Given the description of an element on the screen output the (x, y) to click on. 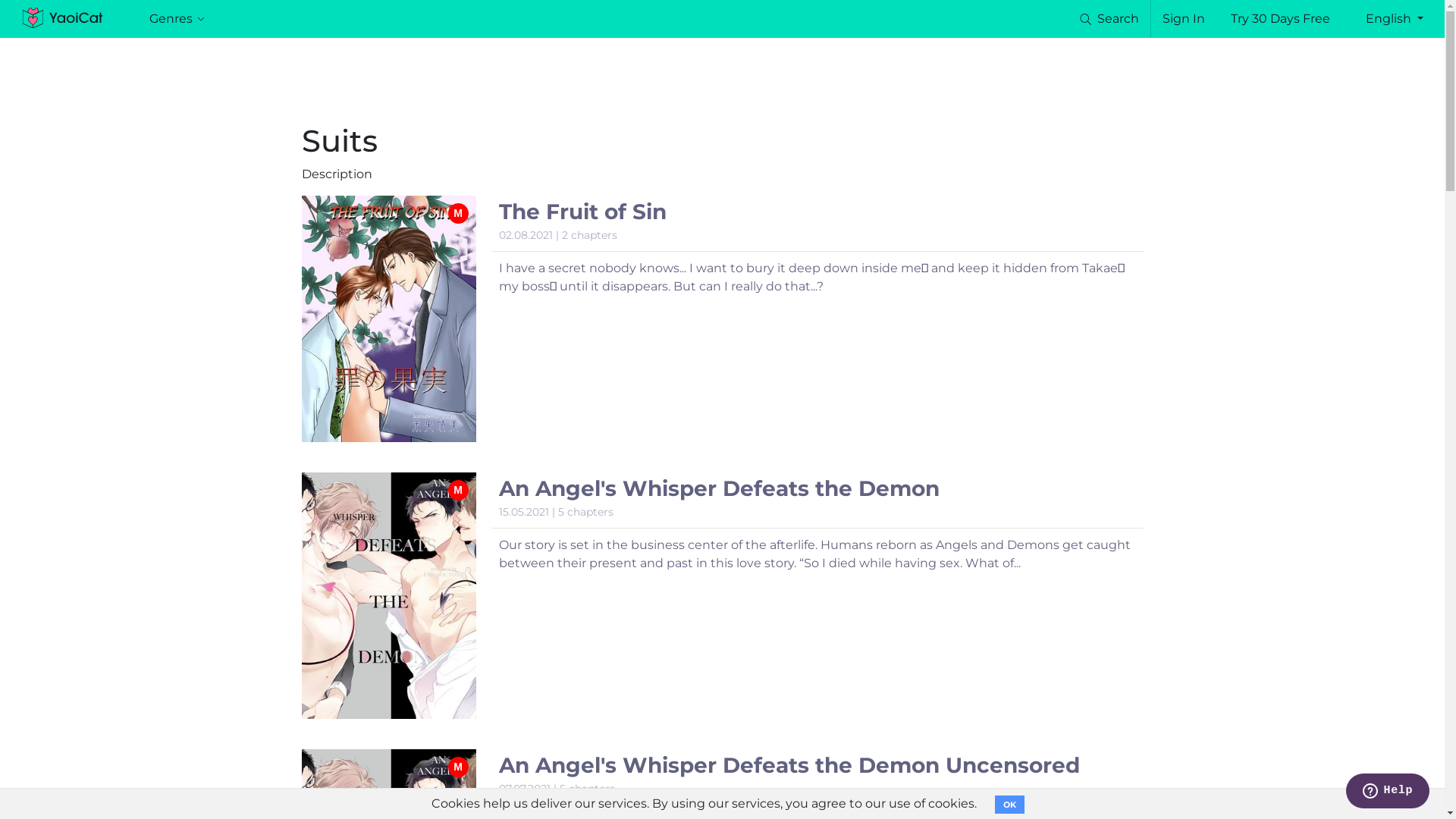
An Angel's Whisper Defeats the Demon Element type: text (718, 488)
Opens a widget where you can find more information Element type: hover (1387, 792)
Sign In Element type: text (1183, 18)
The Fruit of Sin Element type: text (582, 211)
Try 30 Days Free Element type: text (1280, 18)
OK Element type: text (1009, 804)
An Angel's Whisper Defeats the Demon Uncensored Element type: text (788, 765)
Genres
(current) Element type: text (176, 18)
Search Element type: text (1108, 18)
English Element type: text (1394, 18)
